Given the description of an element on the screen output the (x, y) to click on. 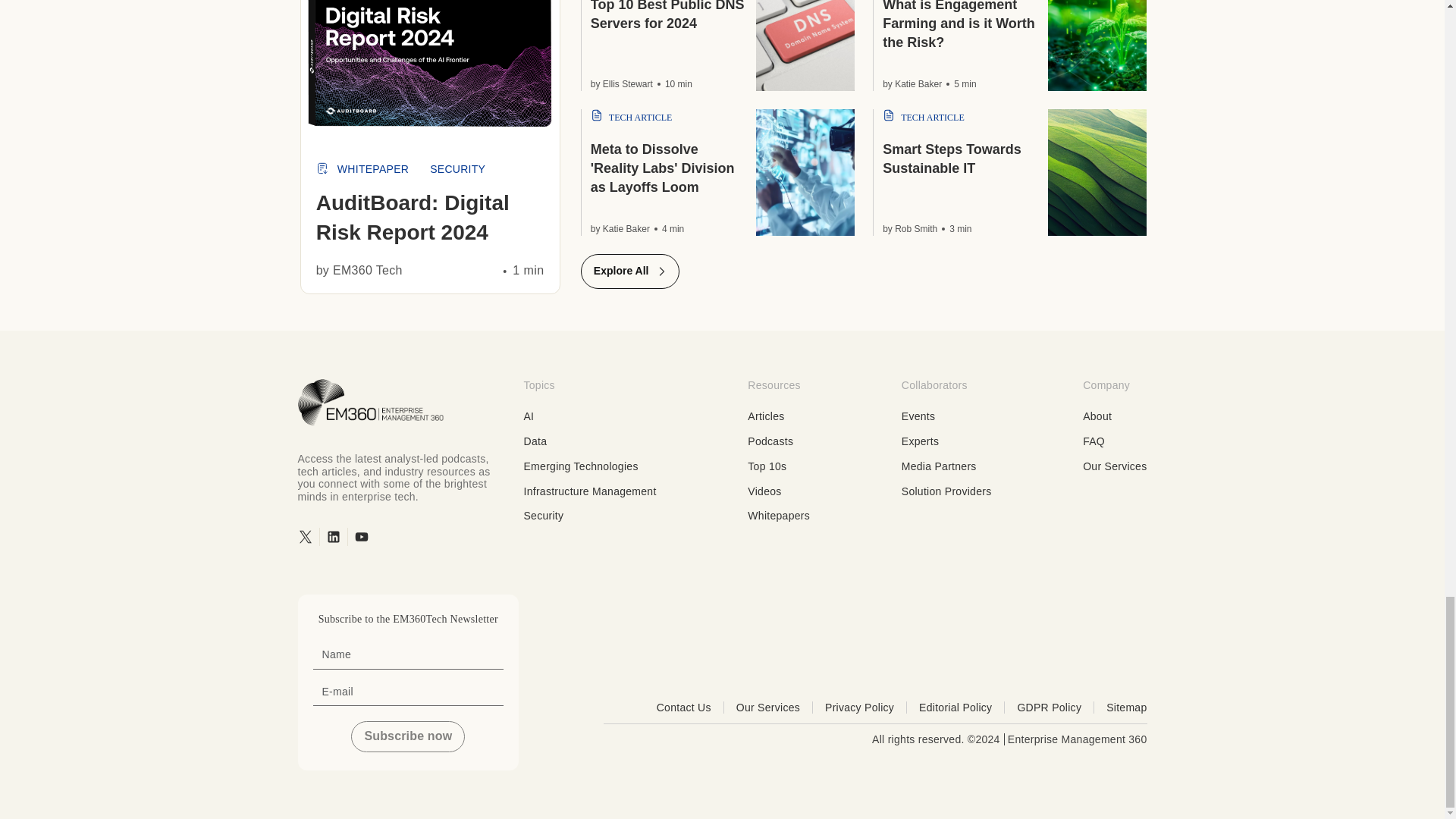
GDPR Policy (1055, 707)
Subscribe now (407, 736)
Privacy Policy (866, 707)
Sitemap (1126, 707)
